Given the description of an element on the screen output the (x, y) to click on. 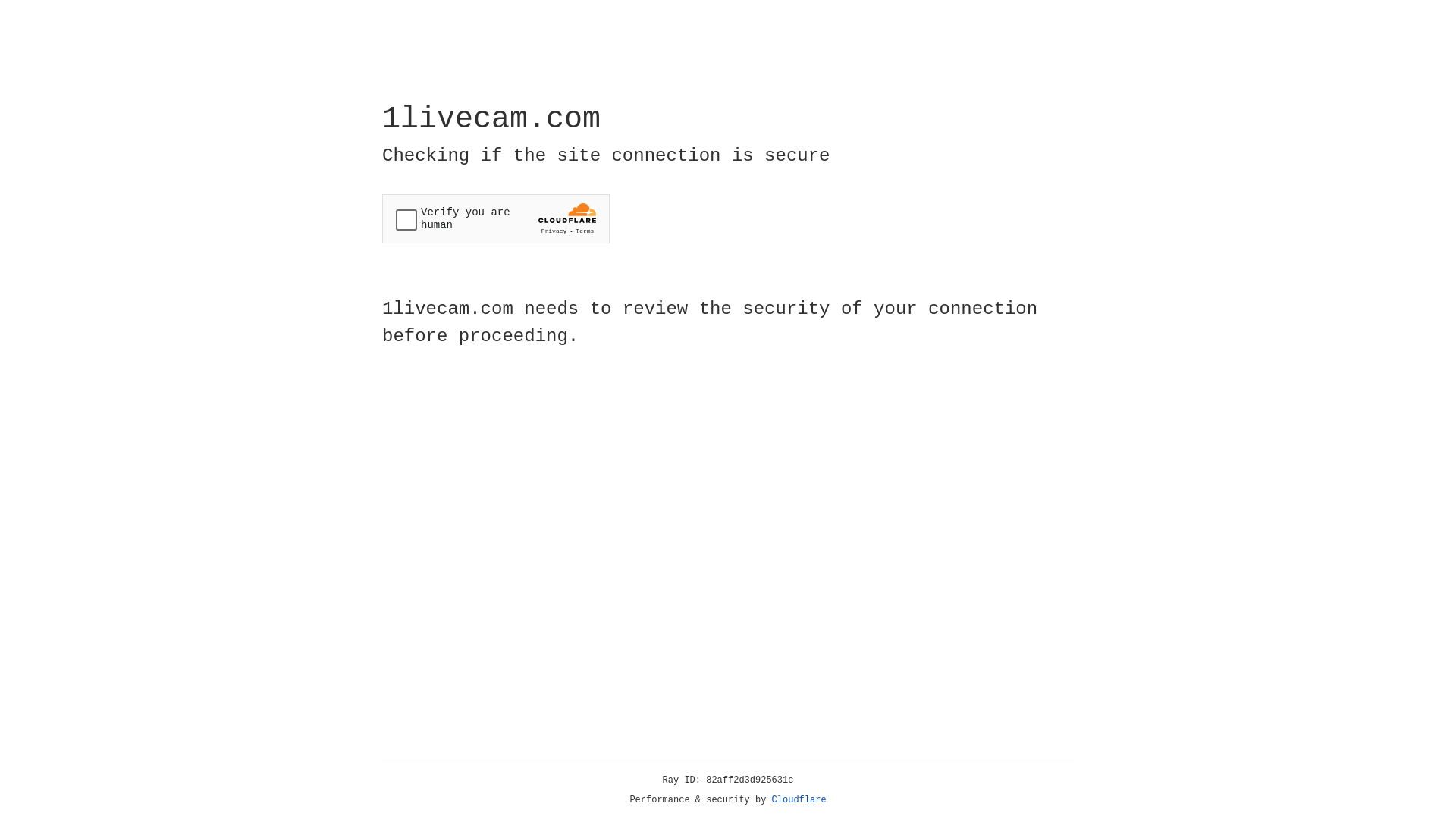
Cloudflare Element type: text (798, 799)
Widget containing a Cloudflare security challenge Element type: hover (495, 218)
